Given the description of an element on the screen output the (x, y) to click on. 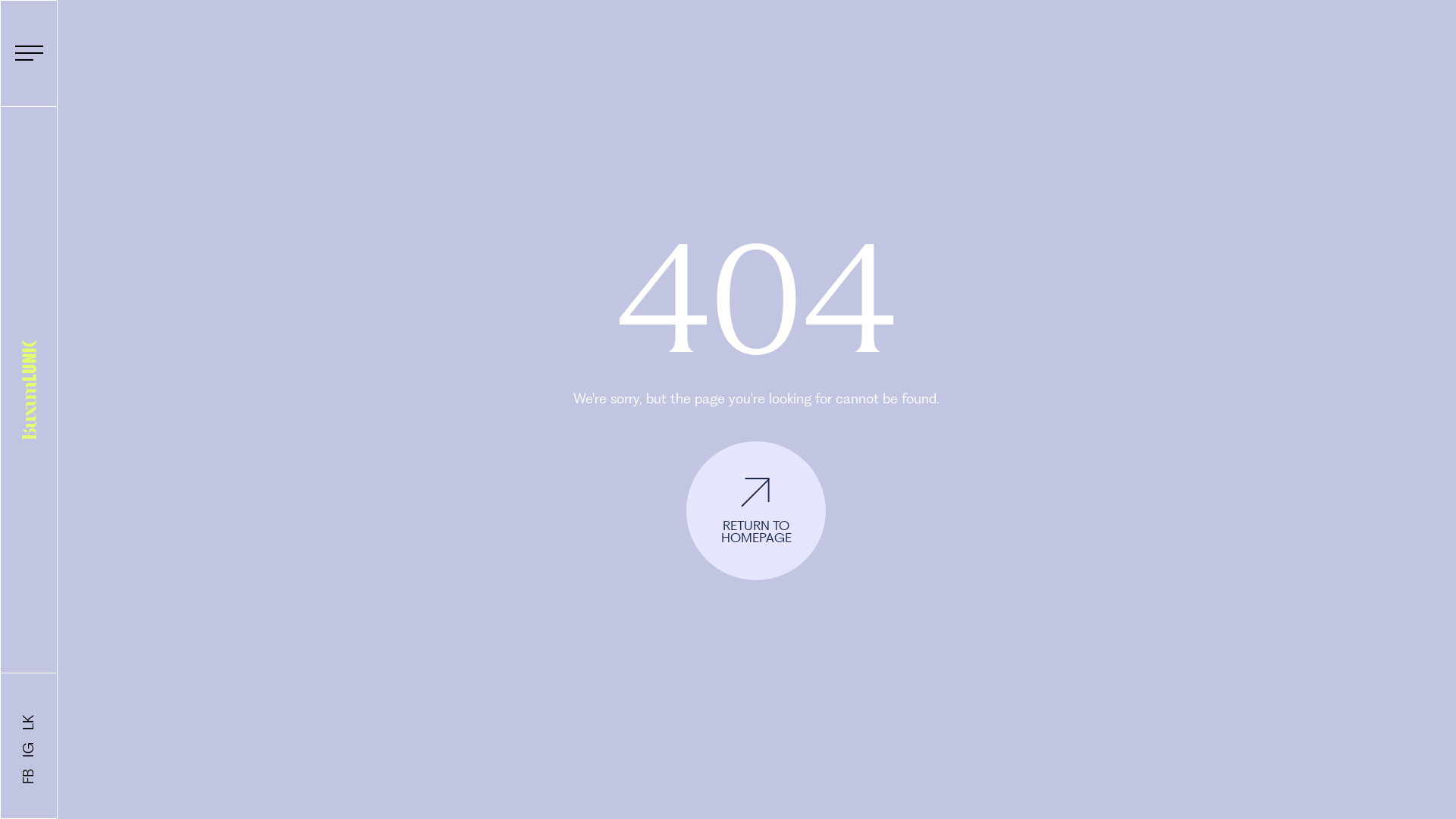
RETURN TO HOMEPAGE Element type: text (755, 510)
LK Element type: text (26, 723)
IG Element type: text (26, 749)
FB Element type: text (26, 776)
